Given the description of an element on the screen output the (x, y) to click on. 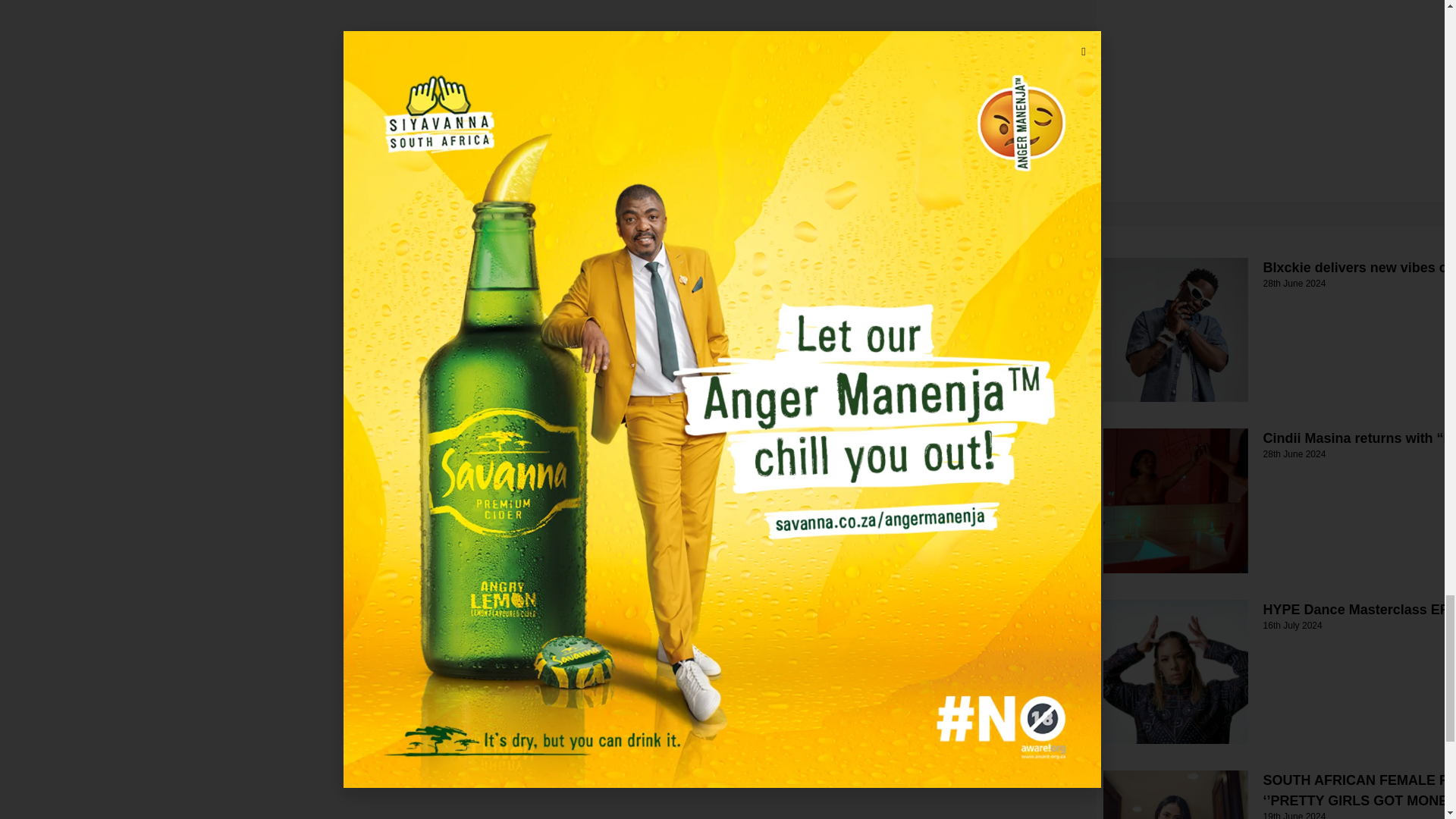
3rd party ad content (1209, 88)
